Given the description of an element on the screen output the (x, y) to click on. 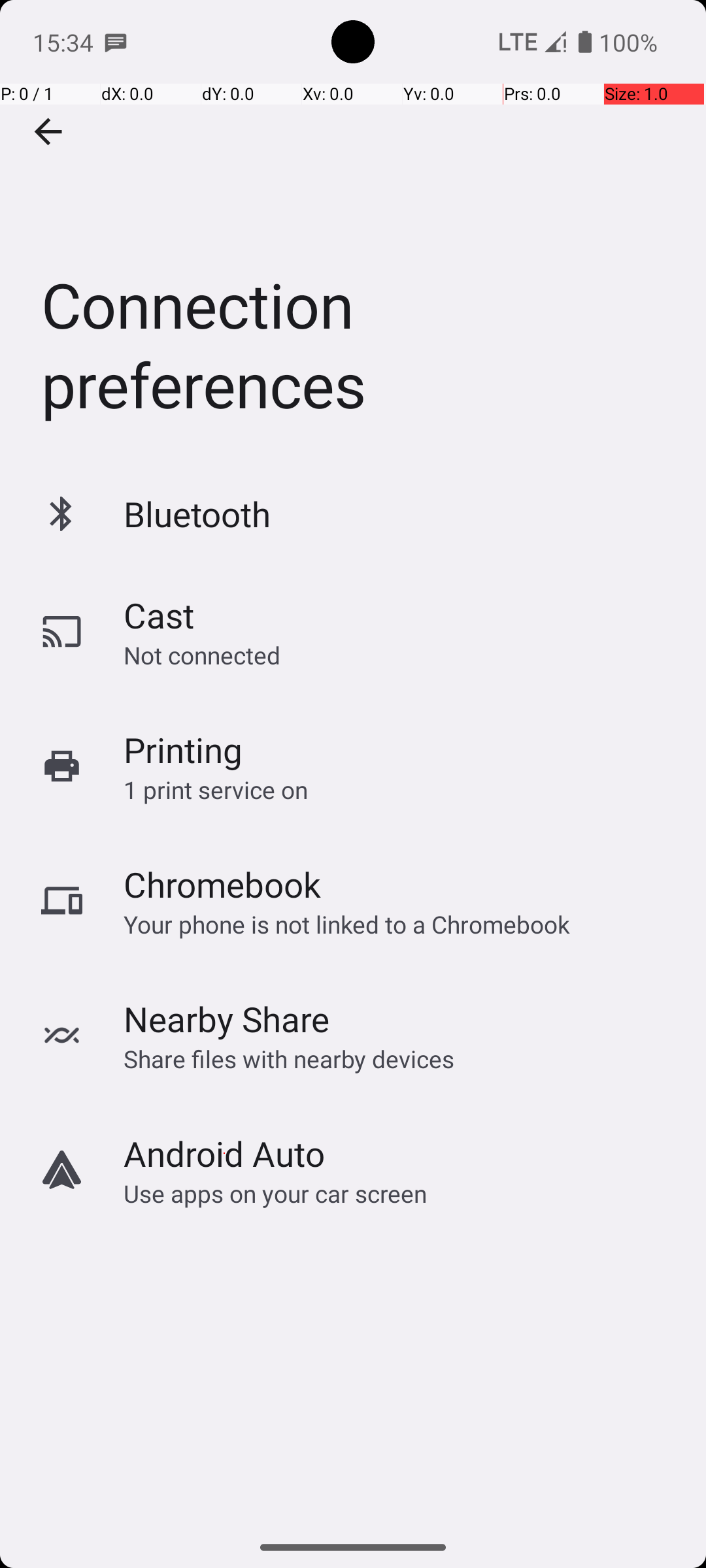
Connection preferences Element type: android.widget.FrameLayout (353, 231)
Bluetooth Element type: android.widget.TextView (197, 513)
Cast Element type: android.widget.TextView (158, 614)
Not connected Element type: android.widget.TextView (201, 654)
Printing Element type: android.widget.TextView (182, 749)
1 print service on Element type: android.widget.TextView (215, 789)
Chromebook Element type: android.widget.TextView (222, 884)
Your phone is not linked to a Chromebook Element type: android.widget.TextView (346, 923)
Nearby Share Element type: android.widget.TextView (226, 1018)
Share files with nearby devices Element type: android.widget.TextView (288, 1058)
Use apps on your car screen Element type: android.widget.TextView (275, 1192)
